Given the description of an element on the screen output the (x, y) to click on. 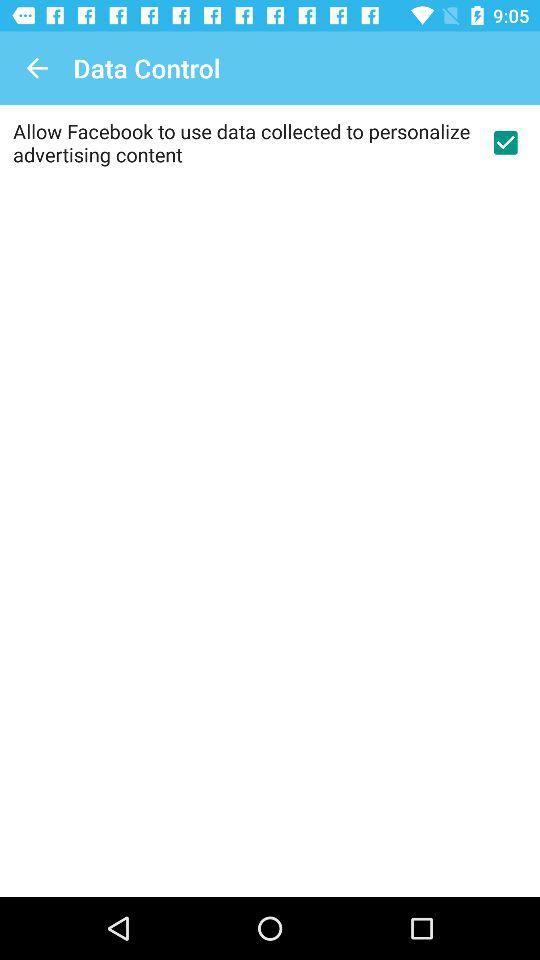
agree with terms (505, 142)
